Given the description of an element on the screen output the (x, y) to click on. 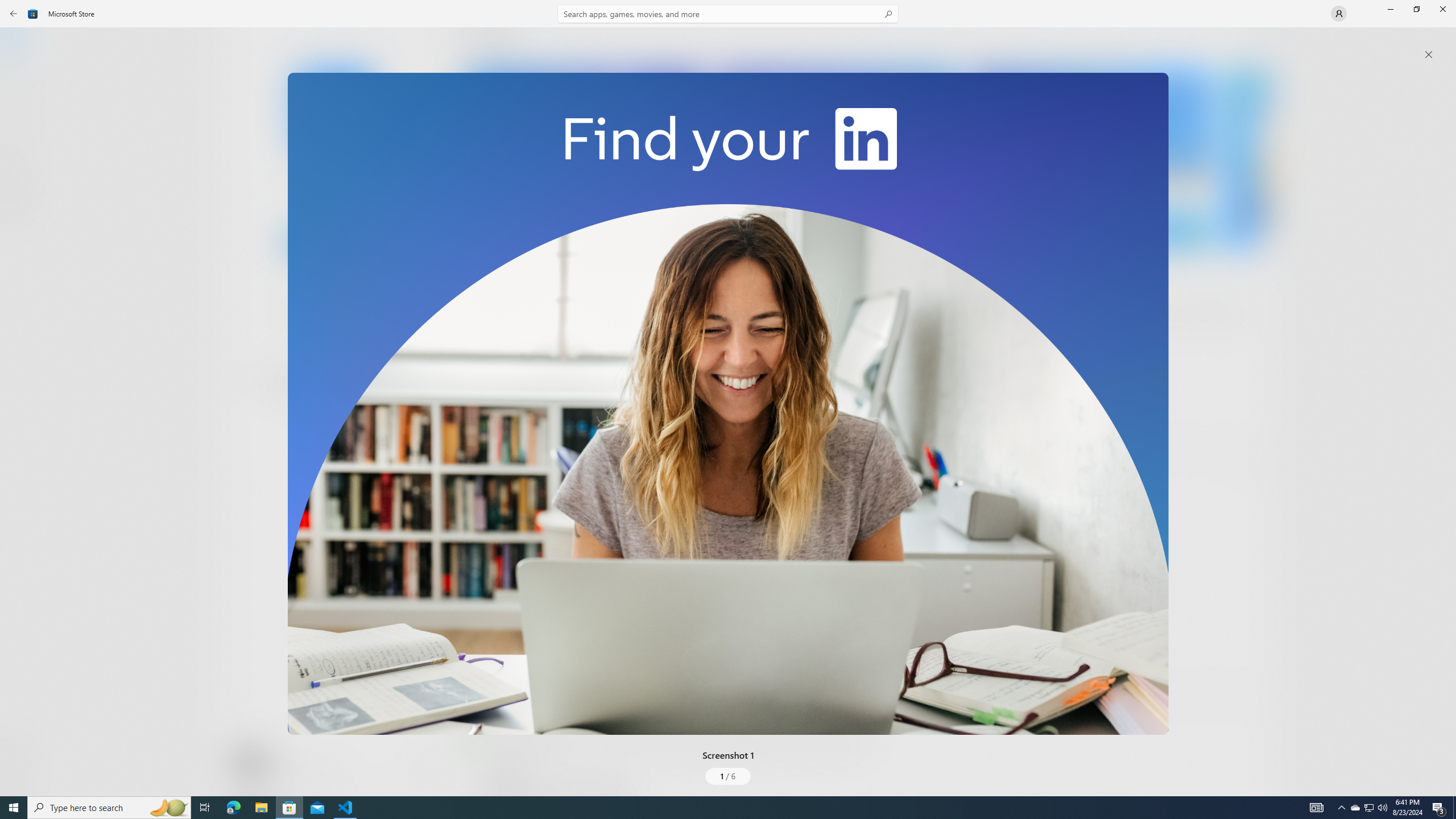
Show all ratings and reviews (1253, 465)
3.9 stars. Click to skip to ratings and reviews (307, 315)
Social (329, 423)
Screenshot 1 (727, 403)
Get (334, 241)
See all (1253, 41)
Back (13, 13)
